Given the description of an element on the screen output the (x, y) to click on. 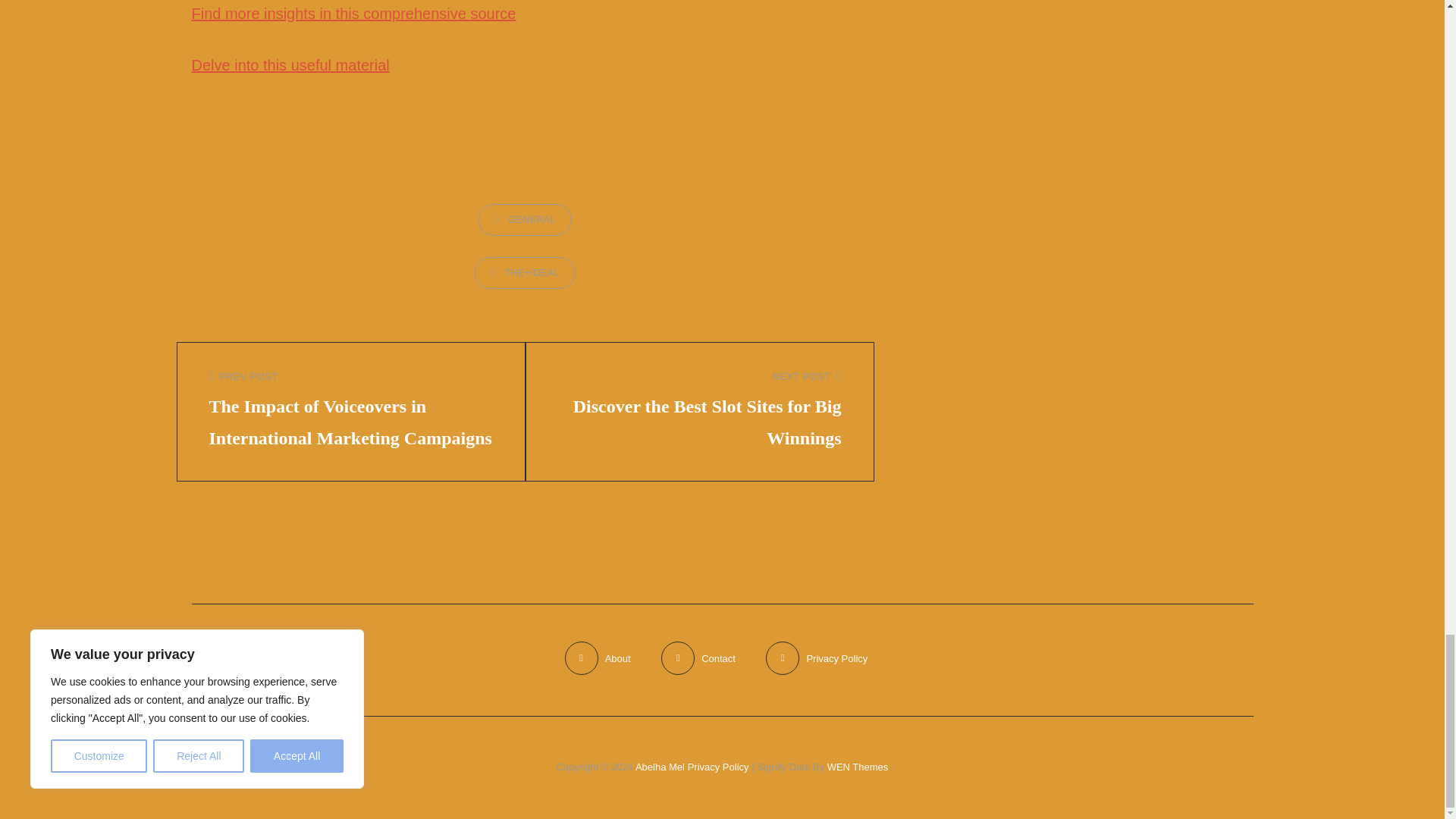
GENERAL (525, 219)
Find more insights in this comprehensive source (352, 13)
Delve into this useful material (289, 64)
